Given the description of an element on the screen output the (x, y) to click on. 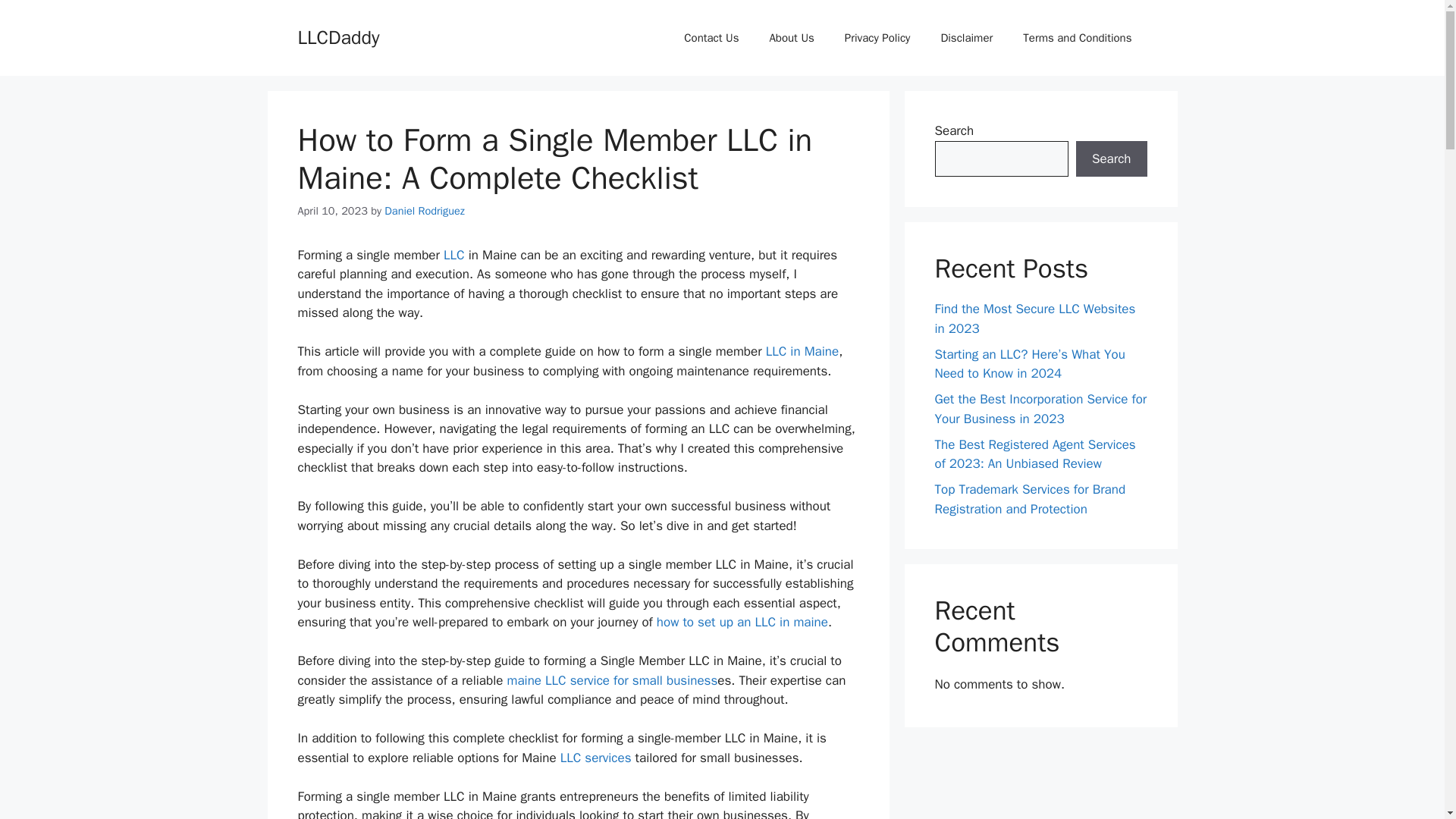
Privacy Policy (877, 37)
View all posts by Daniel Rodriguez (424, 210)
LLC in Maine (801, 351)
Terms and Conditions (1077, 37)
Contact Us (711, 37)
About Us (791, 37)
LLC (454, 254)
Get the Best Incorporation Service for Your Business in 2023 (1040, 408)
Daniel Rodriguez (424, 210)
Disclaimer (965, 37)
